Given the description of an element on the screen output the (x, y) to click on. 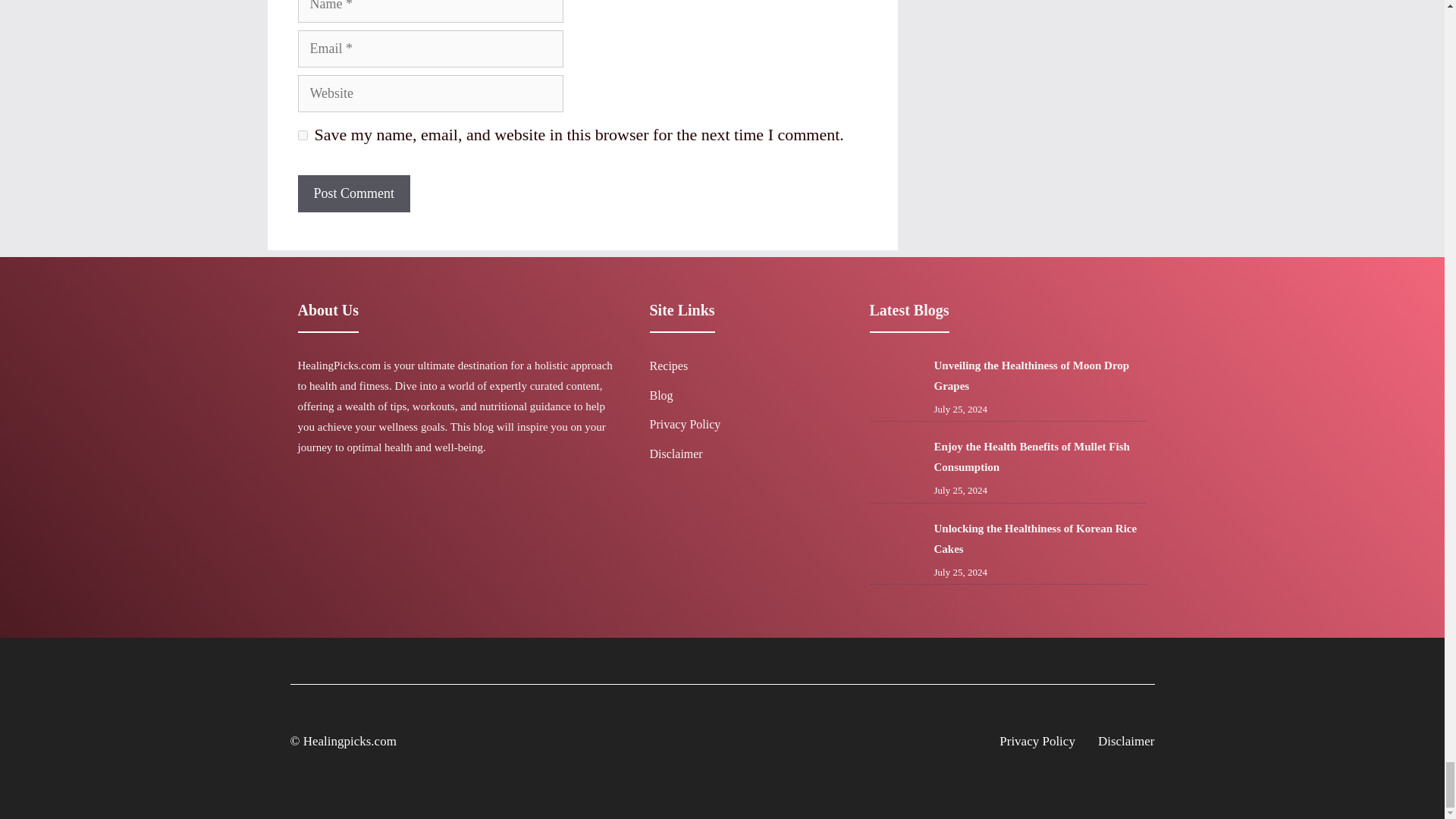
Post Comment (353, 193)
yes (302, 134)
